Given the description of an element on the screen output the (x, y) to click on. 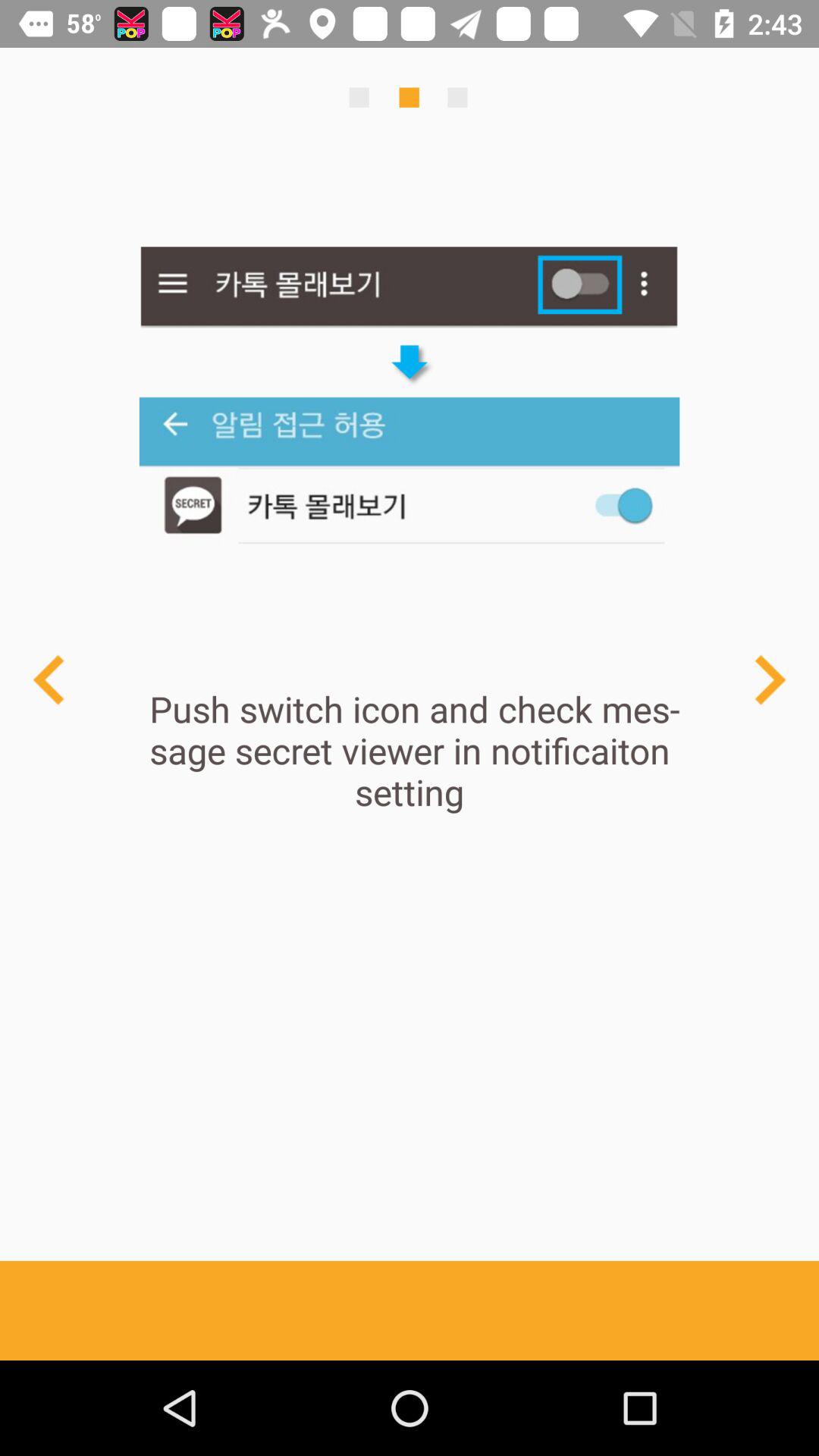
arrow back (49, 679)
